Given the description of an element on the screen output the (x, y) to click on. 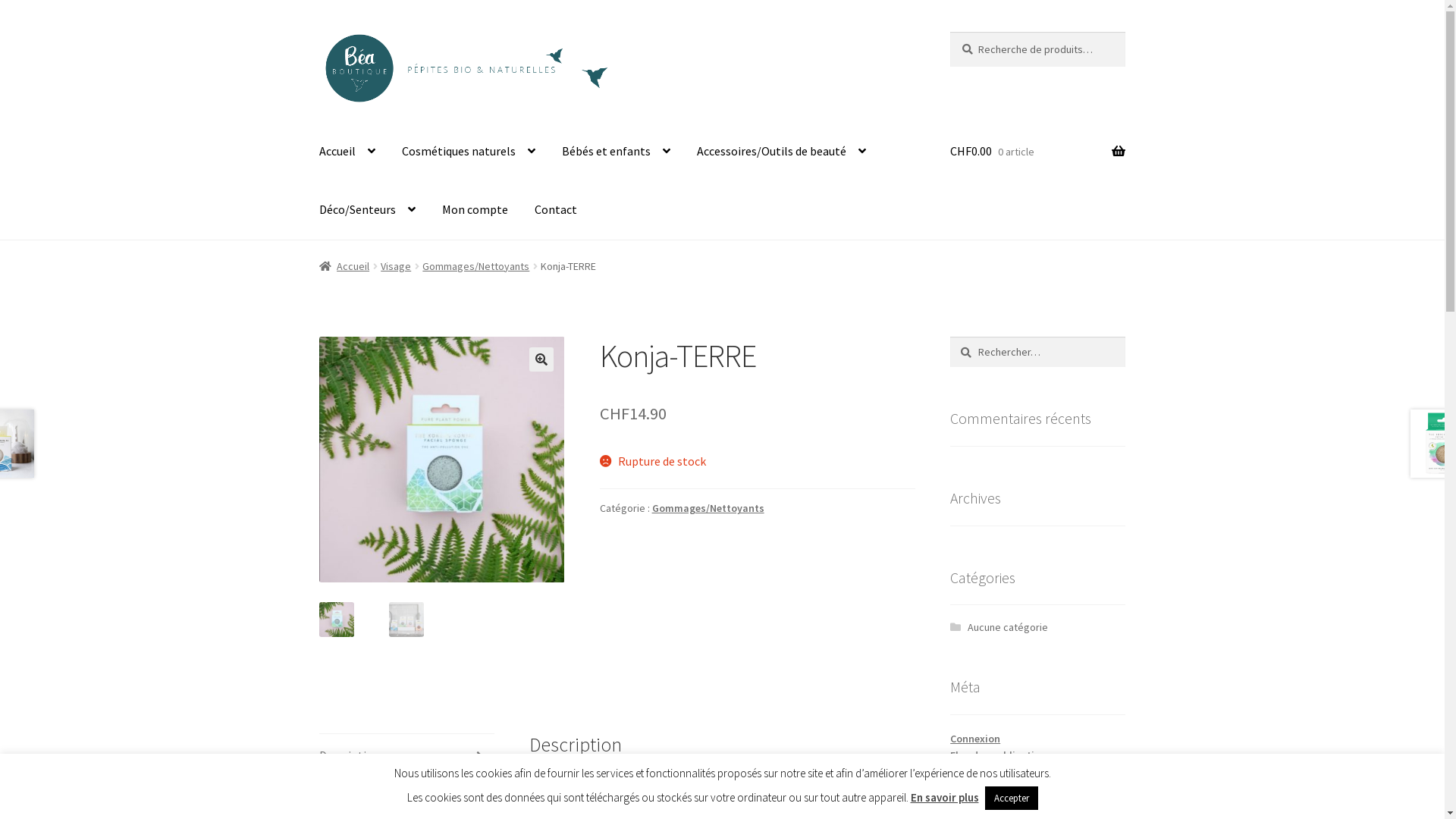
Gommages/Nettoyants Element type: text (708, 507)
Description Element type: text (406, 756)
konjac terre Element type: hover (441, 459)
Contact Element type: text (555, 209)
Visage Element type: text (395, 266)
Recherche Element type: text (949, 31)
Mon compte Element type: text (474, 209)
Accepter Element type: text (1010, 797)
CHF0.00 0 article Element type: text (1037, 151)
Gommages/Nettoyants Element type: text (475, 266)
Accueil Element type: text (344, 266)
Flux des publications Element type: text (1000, 755)
Flux des commentaires Element type: text (1005, 772)
Site de WordPress-FR Element type: text (1000, 790)
Connexion Element type: text (975, 738)
Accueil Element type: text (347, 151)
Rechercher Element type: text (949, 335)
En savoir plus Element type: text (944, 797)
